Given the description of an element on the screen output the (x, y) to click on. 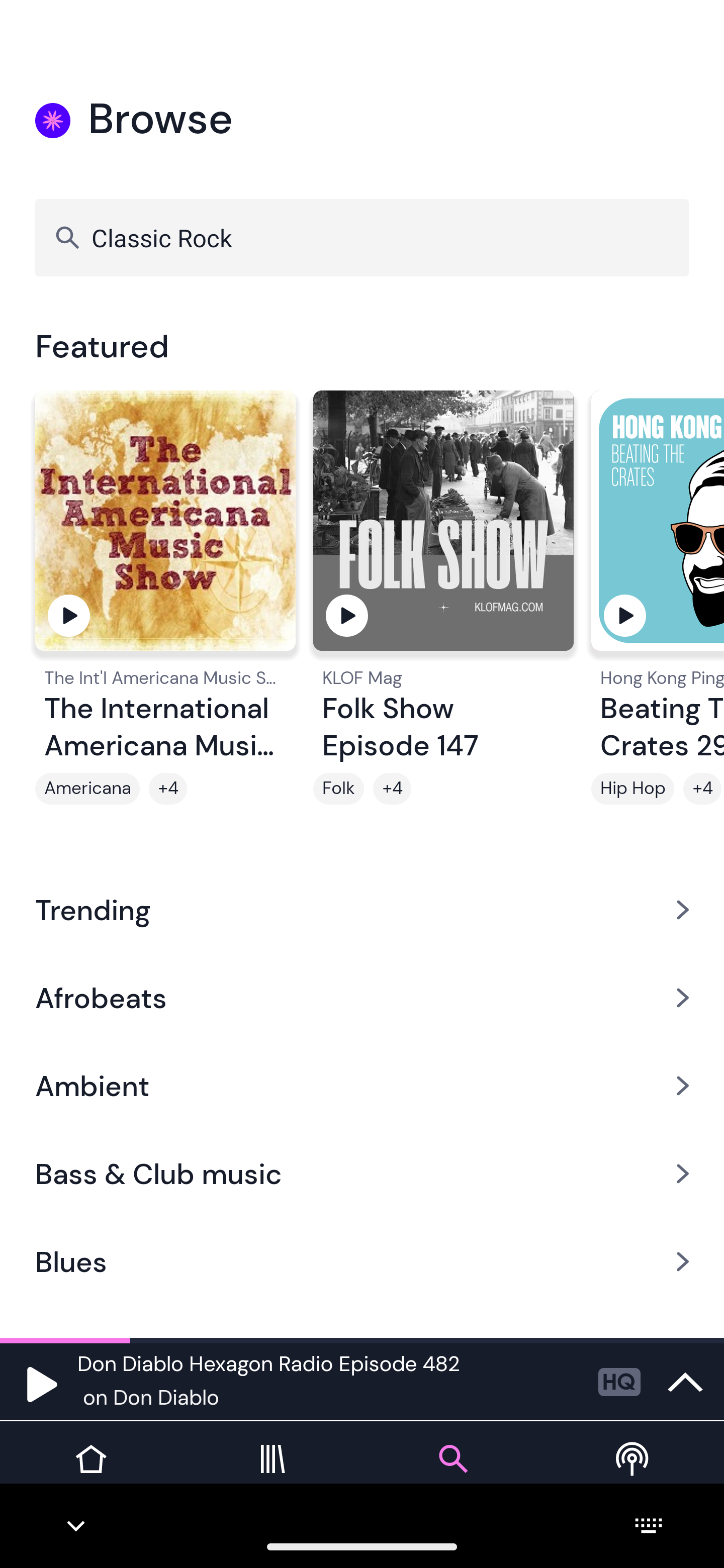
Classic Rock (361, 237)
Americana (87, 788)
Folk (338, 788)
Hip Hop (632, 788)
Trending (361, 909)
Afrobeats (361, 997)
Ambient (361, 1085)
Bass & Club music (361, 1174)
Blues (361, 1262)
Home tab (90, 1473)
Library tab (271, 1473)
Browse tab (452, 1473)
Live tab (633, 1473)
